Given the description of an element on the screen output the (x, y) to click on. 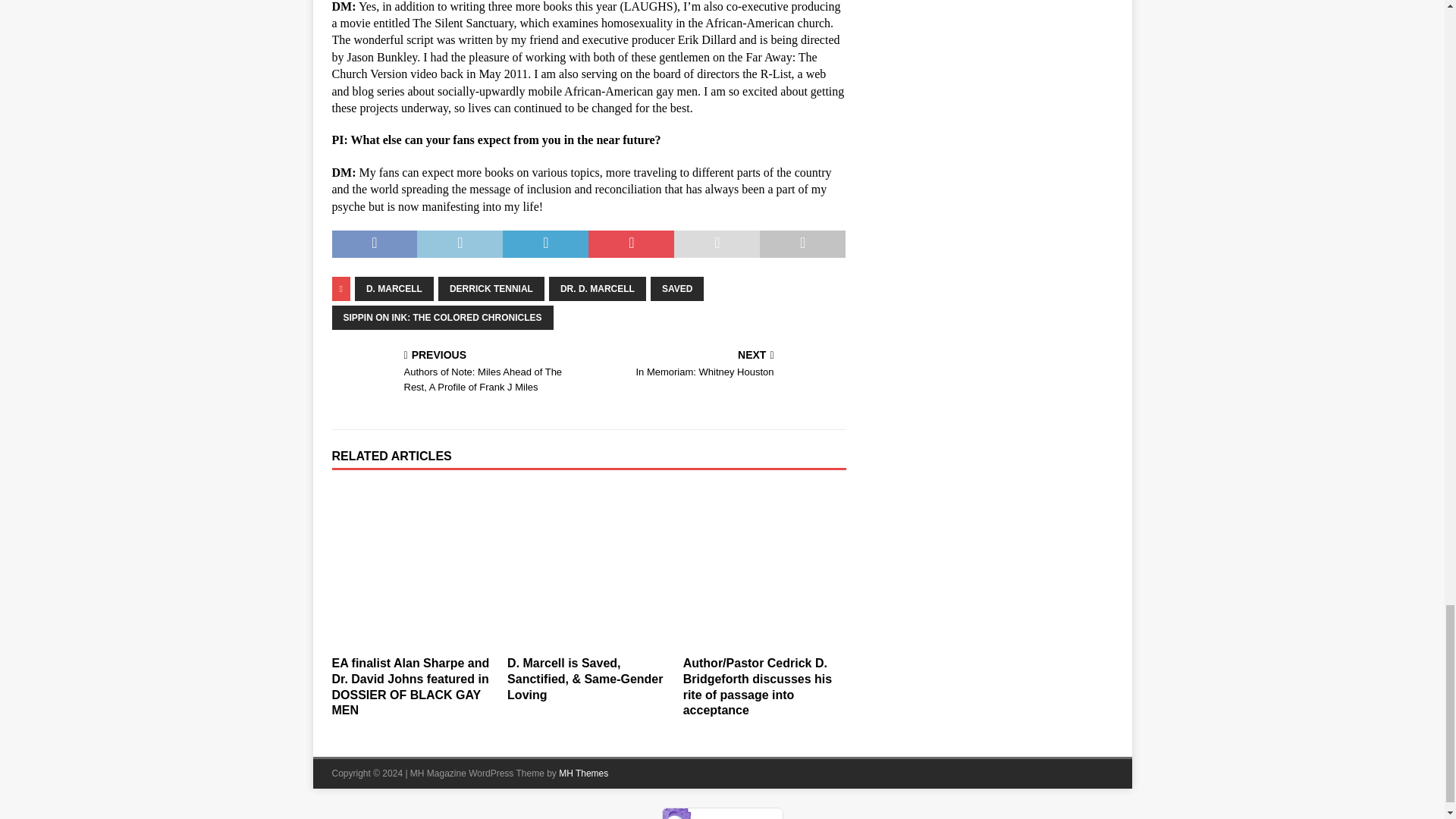
DERRICK TENNIAL (491, 288)
D. MARCELL (394, 288)
DR. D. MARCELL (597, 288)
